Given the description of an element on the screen output the (x, y) to click on. 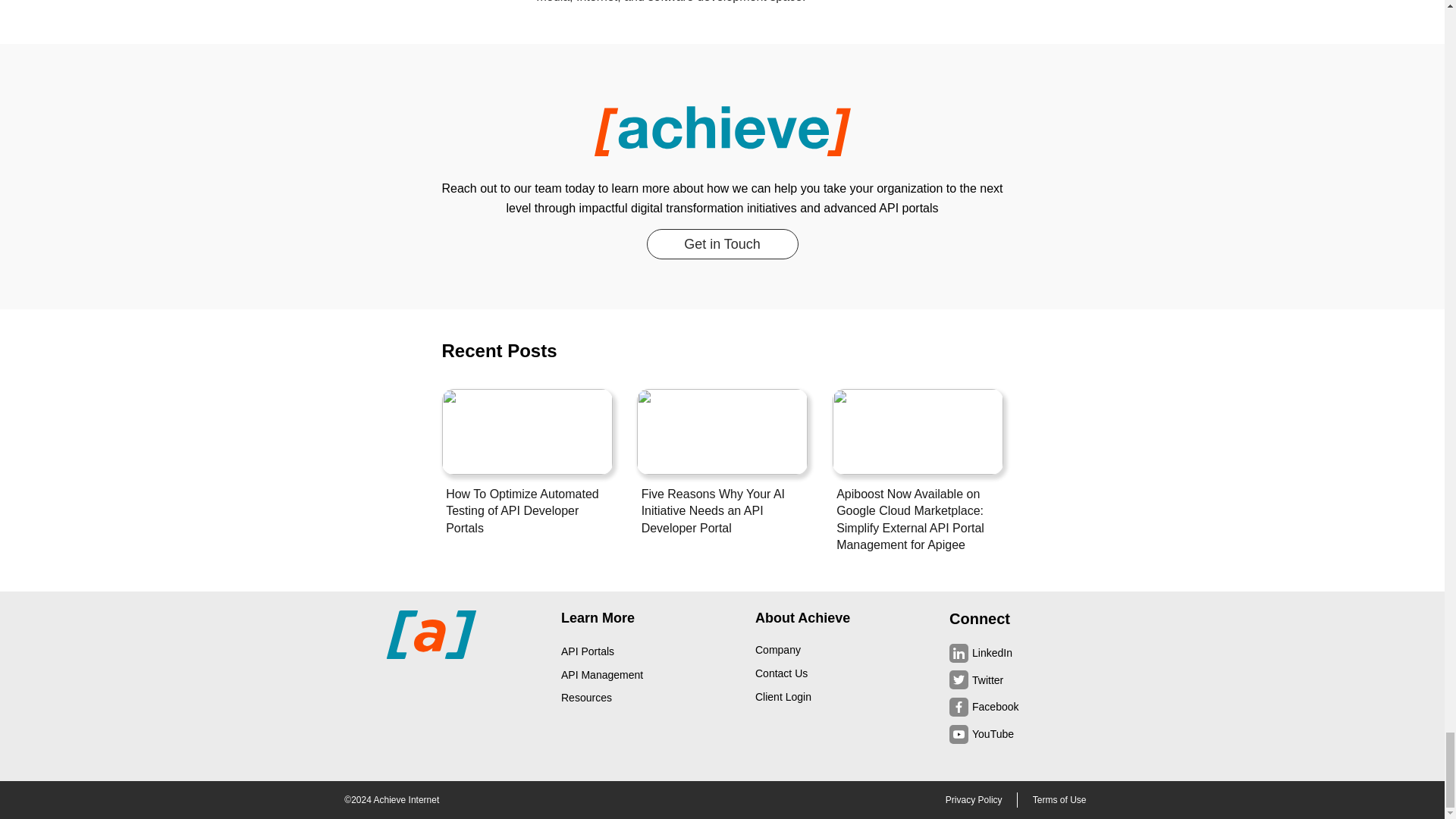
How To Optimize Automated Testing of API Developer Portals (526, 511)
Get in Touch (722, 243)
LinkedIn (991, 653)
